Given the description of an element on the screen output the (x, y) to click on. 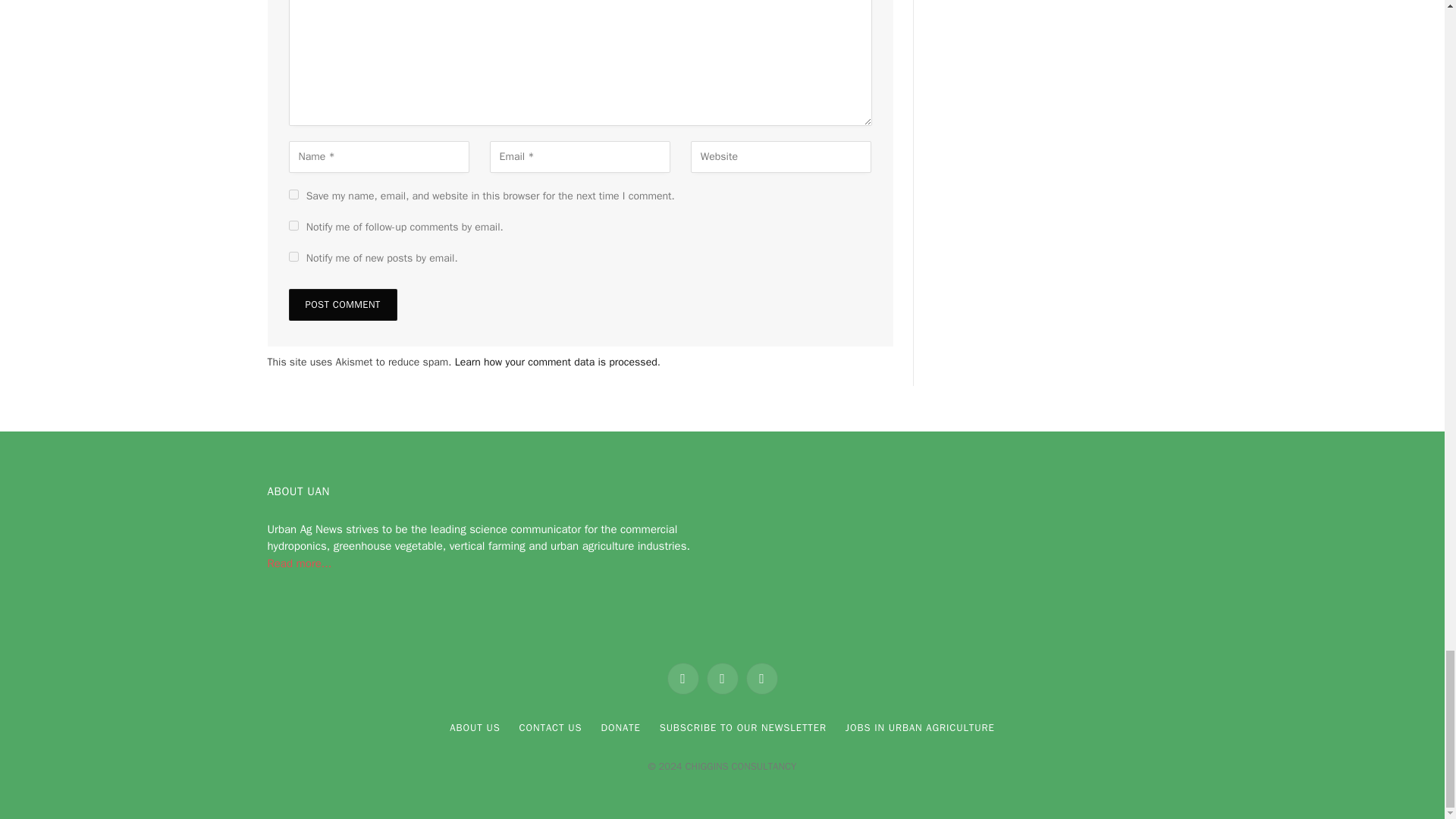
subscribe (293, 256)
yes (293, 194)
subscribe (293, 225)
Post Comment (342, 305)
